Given the description of an element on the screen output the (x, y) to click on. 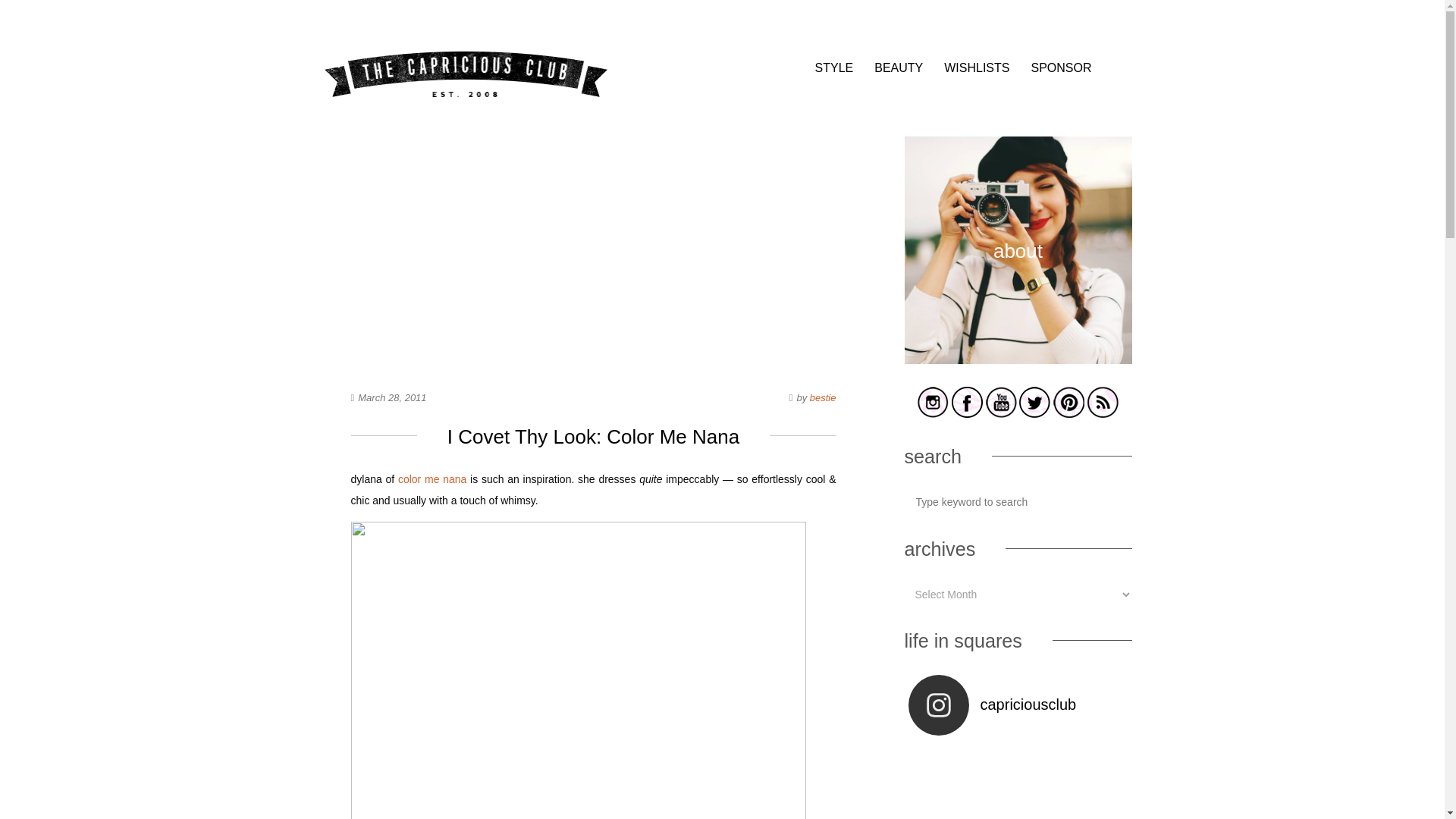
color me nana (431, 479)
bestie (822, 397)
March 28, 2011 (392, 397)
about (1017, 361)
SPONSOR (1060, 68)
Type keyword to search (1017, 501)
Advertisement (593, 242)
STYLE (834, 68)
BEAUTY (899, 68)
WISHLISTS (976, 68)
